Given the description of an element on the screen output the (x, y) to click on. 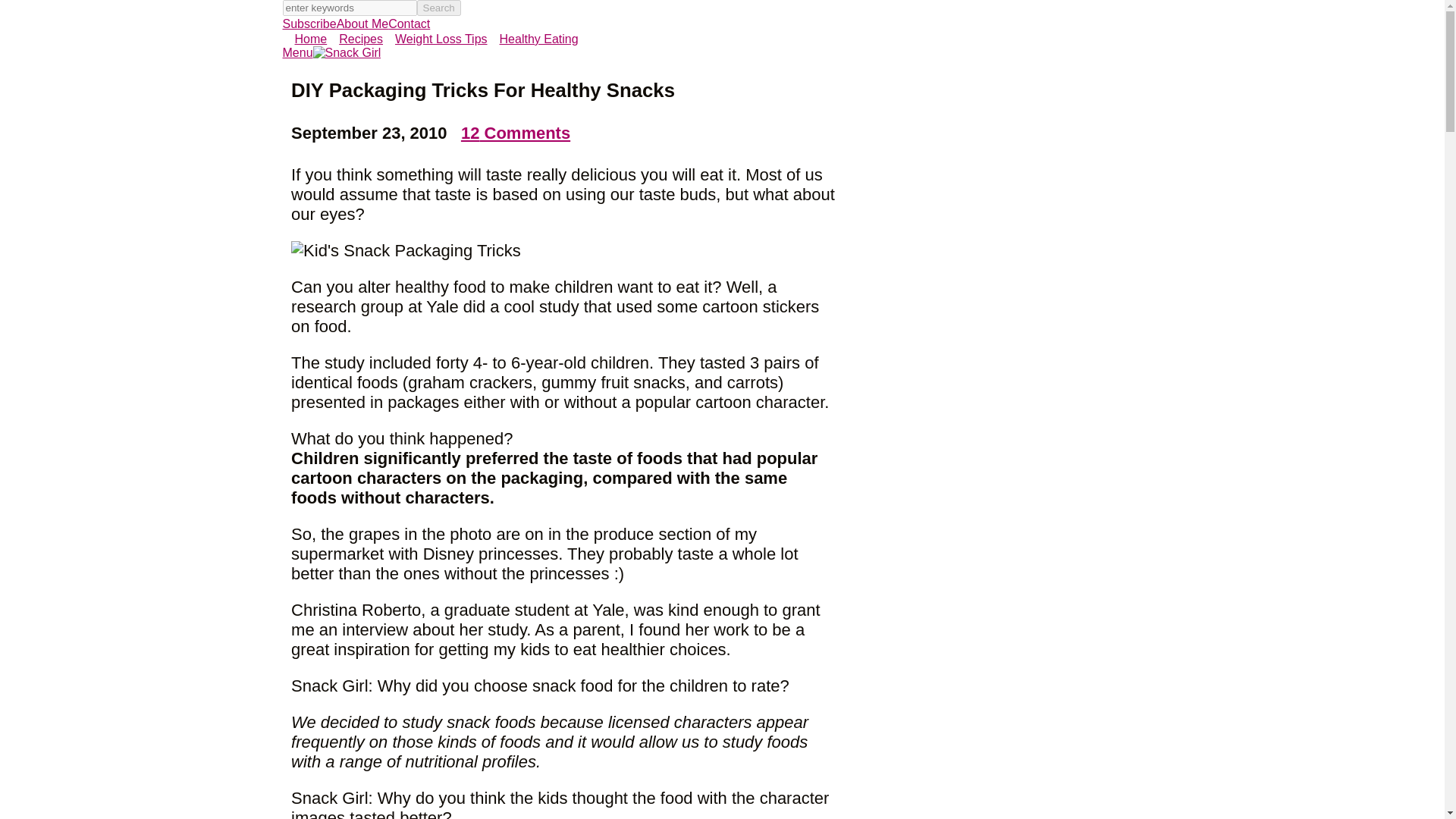
About Me (362, 23)
Healthy Eating (532, 38)
12 Comments (515, 132)
Contact (408, 23)
Home (304, 38)
Search (438, 7)
Weight Loss Tips (434, 38)
Search (438, 7)
Recipes (354, 38)
Menu (297, 51)
Subscribe (309, 23)
